Given the description of an element on the screen output the (x, y) to click on. 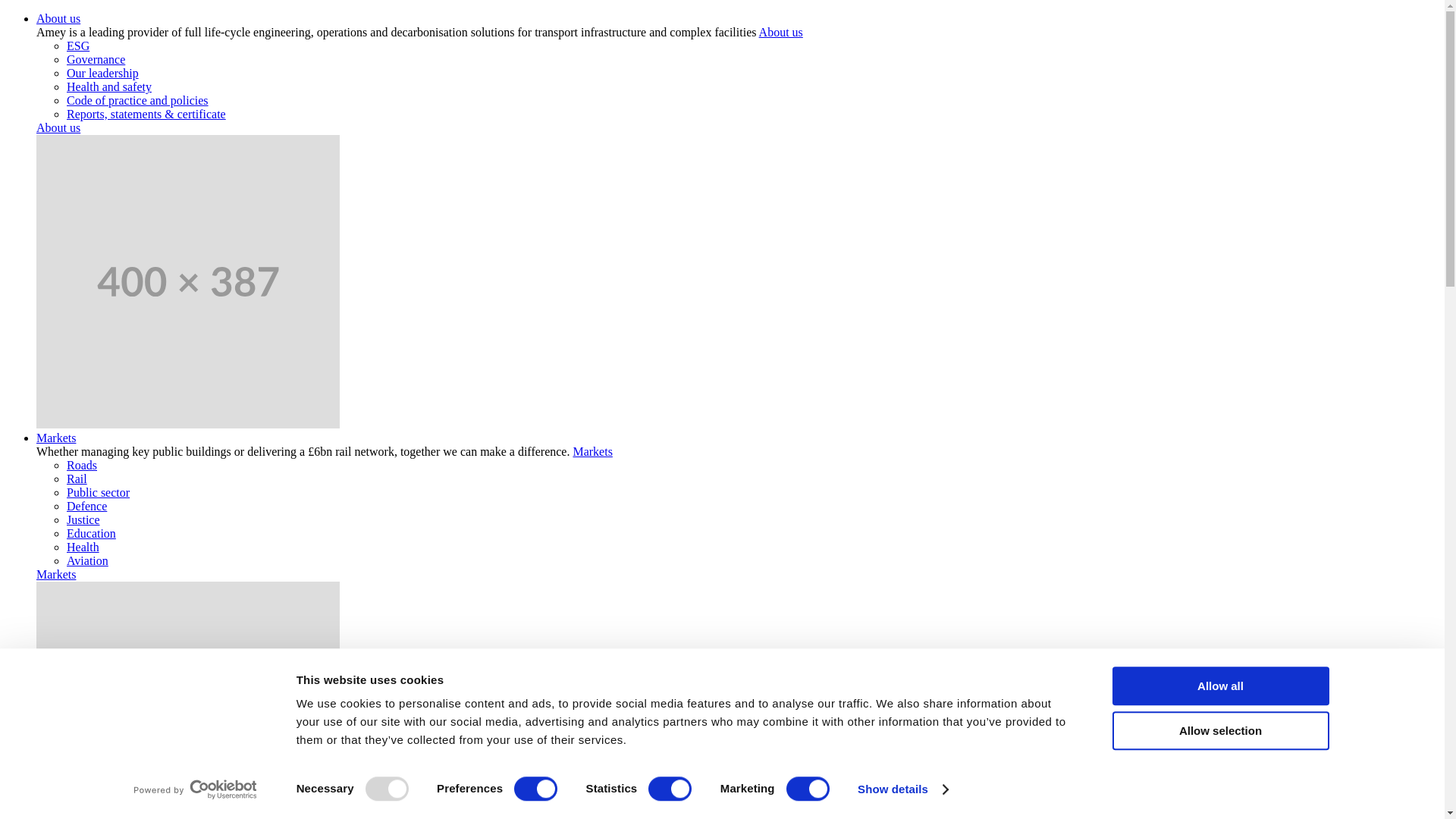
Show details (902, 789)
